Given the description of an element on the screen output the (x, y) to click on. 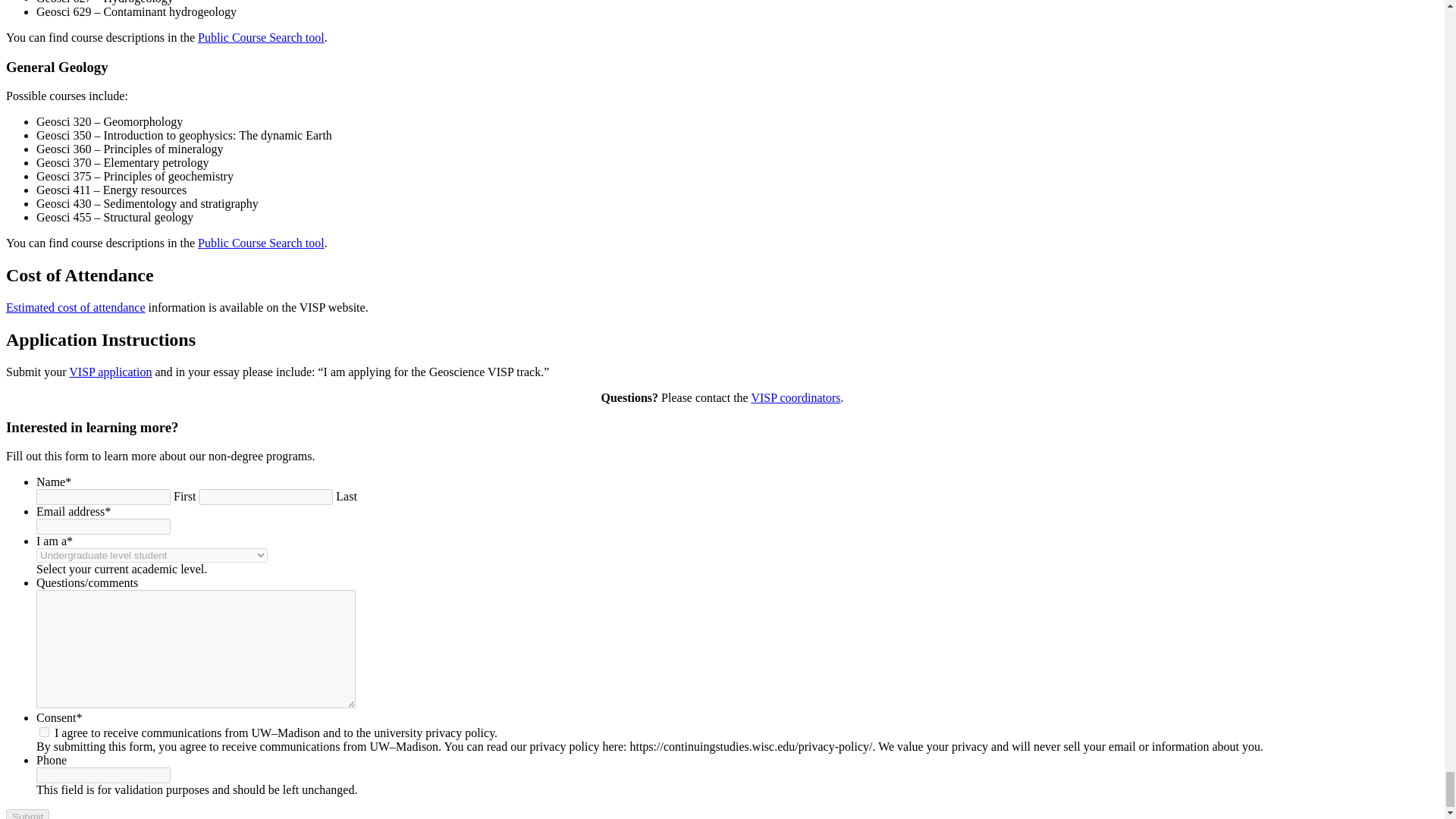
Public Course Search tool (261, 242)
Estimated cost of attendance (74, 307)
Public Course Search tool (261, 37)
VISP application (109, 371)
1 (44, 732)
